Given the description of an element on the screen output the (x, y) to click on. 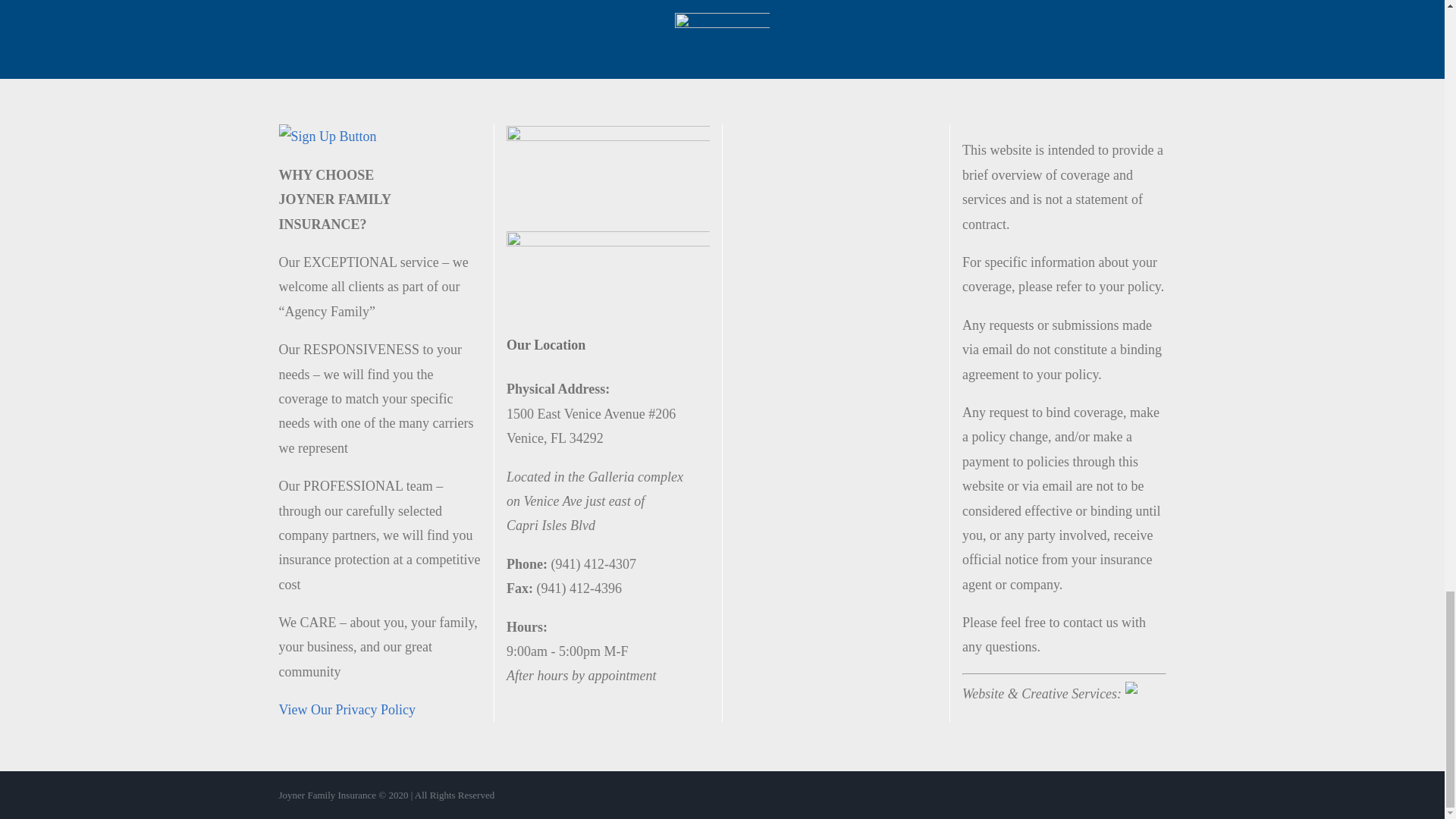
View Our Privacy Policy (346, 709)
3people (722, 38)
